Given the description of an element on the screen output the (x, y) to click on. 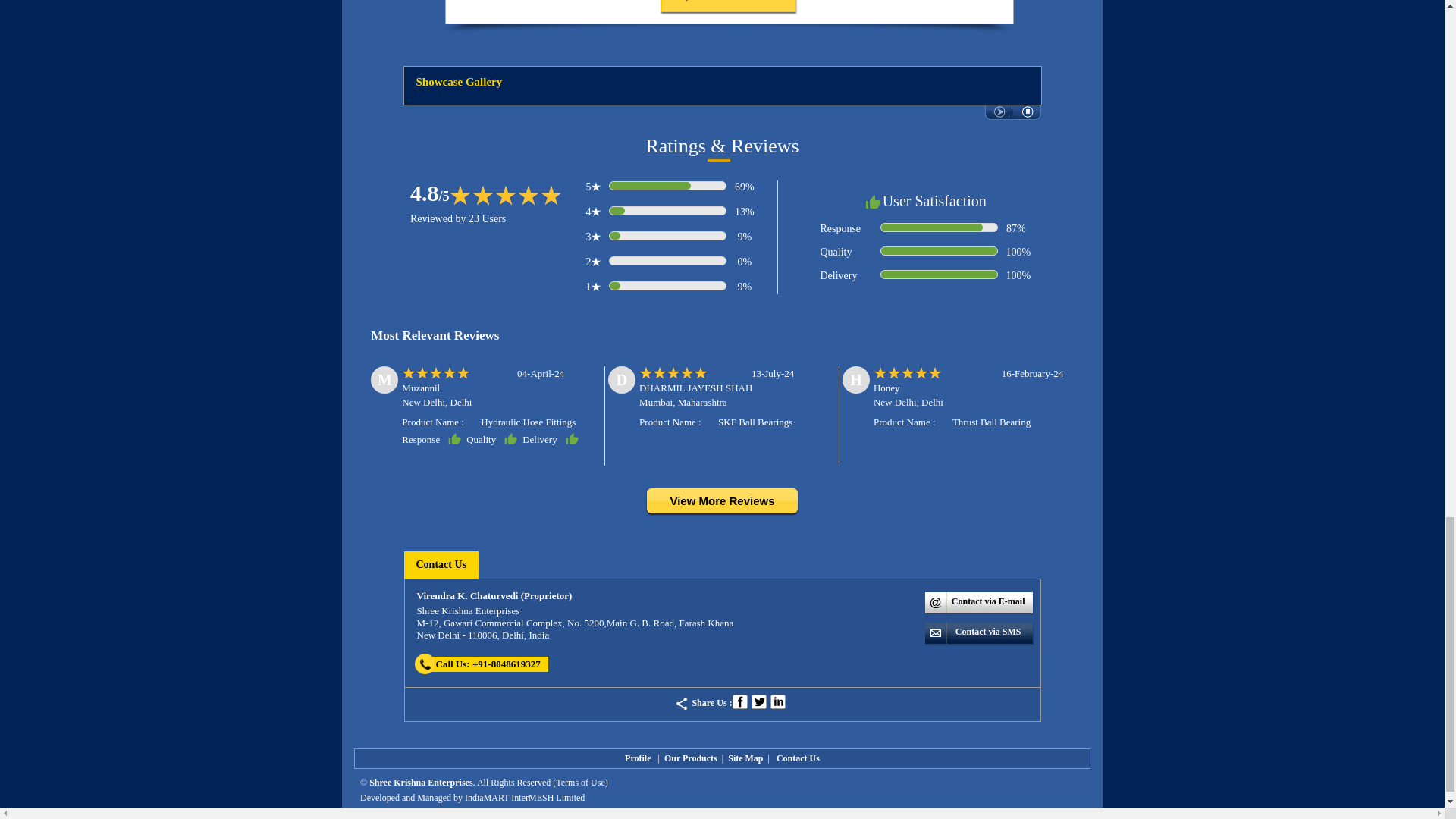
Send it Now ! (728, 6)
4.8 out of 5 Votes (429, 192)
